Given the description of an element on the screen output the (x, y) to click on. 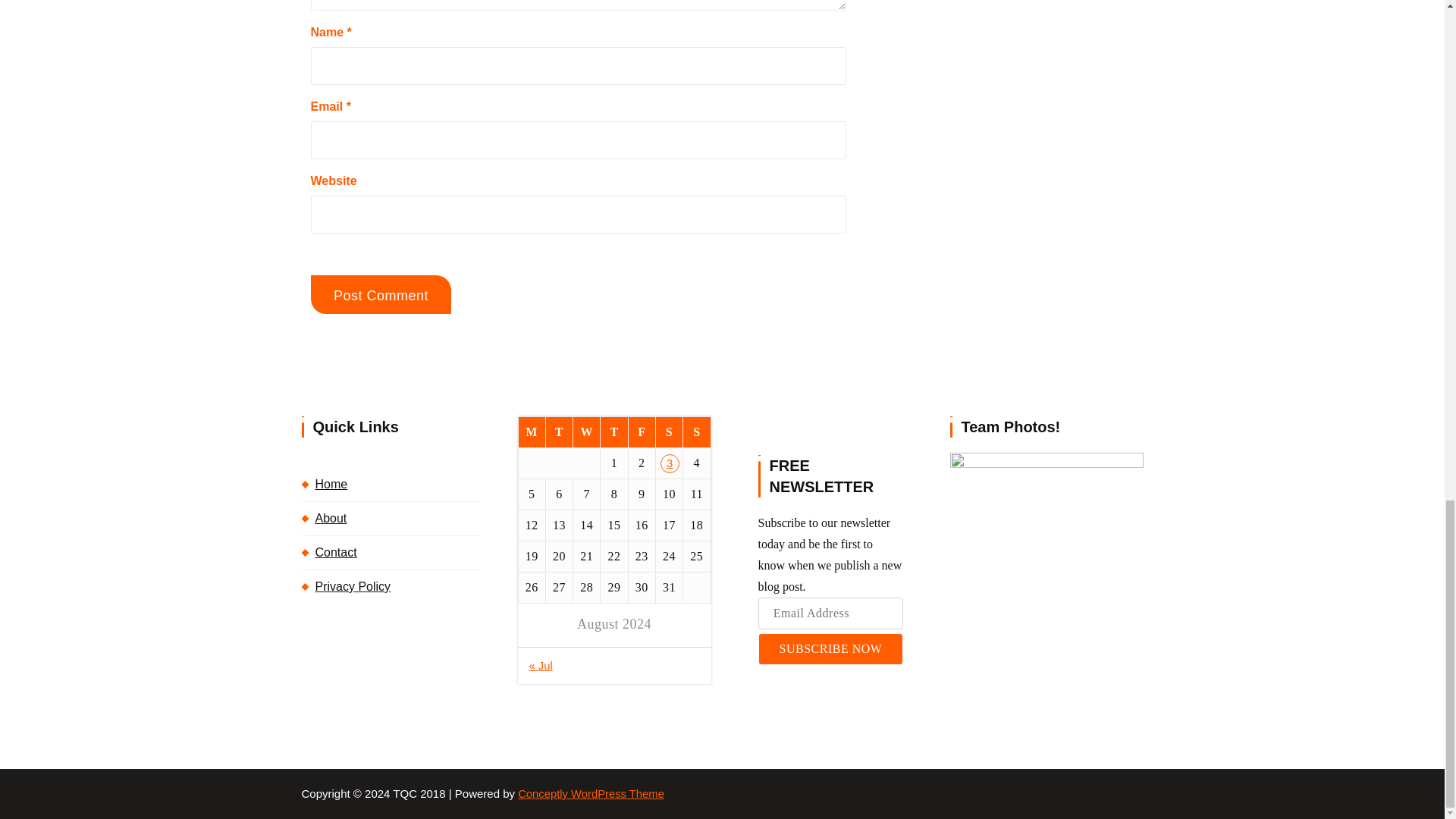
Home (390, 484)
SUBSCRIBE NOW (830, 649)
Post Comment (381, 294)
Contact (390, 552)
About (390, 518)
Post Comment (381, 294)
Privacy Policy (390, 586)
3 (670, 463)
